Given the description of an element on the screen output the (x, y) to click on. 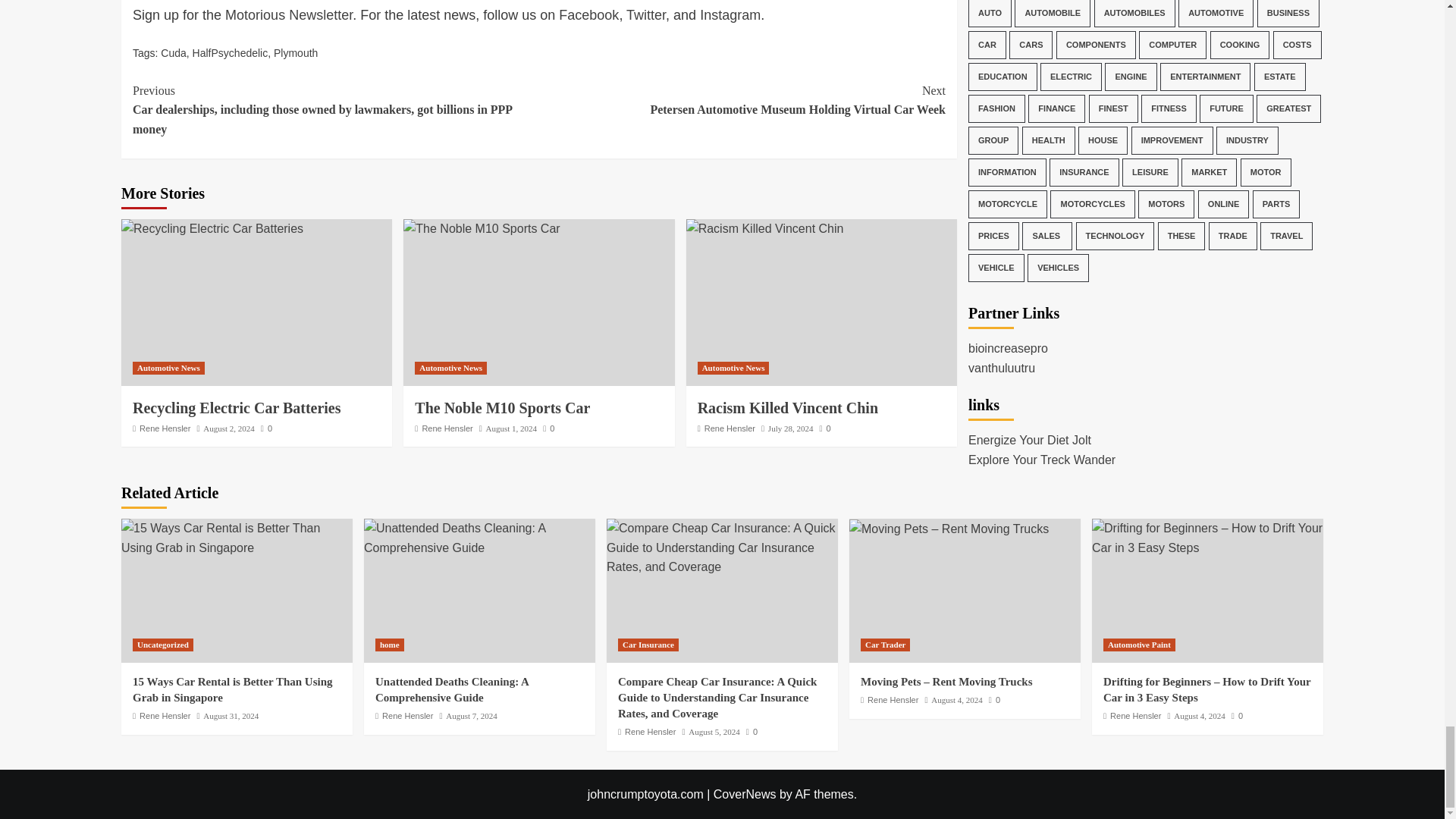
Recycling Electric Car Batteries (211, 229)
Racism Killed Vincent Chin (764, 229)
The Noble M10 Sports Car (481, 229)
Unattended Deaths Cleaning: A Comprehensive Guide (479, 537)
15 Ways Car Rental is Better Than Using Grab in Singapore (236, 537)
